Given the description of an element on the screen output the (x, y) to click on. 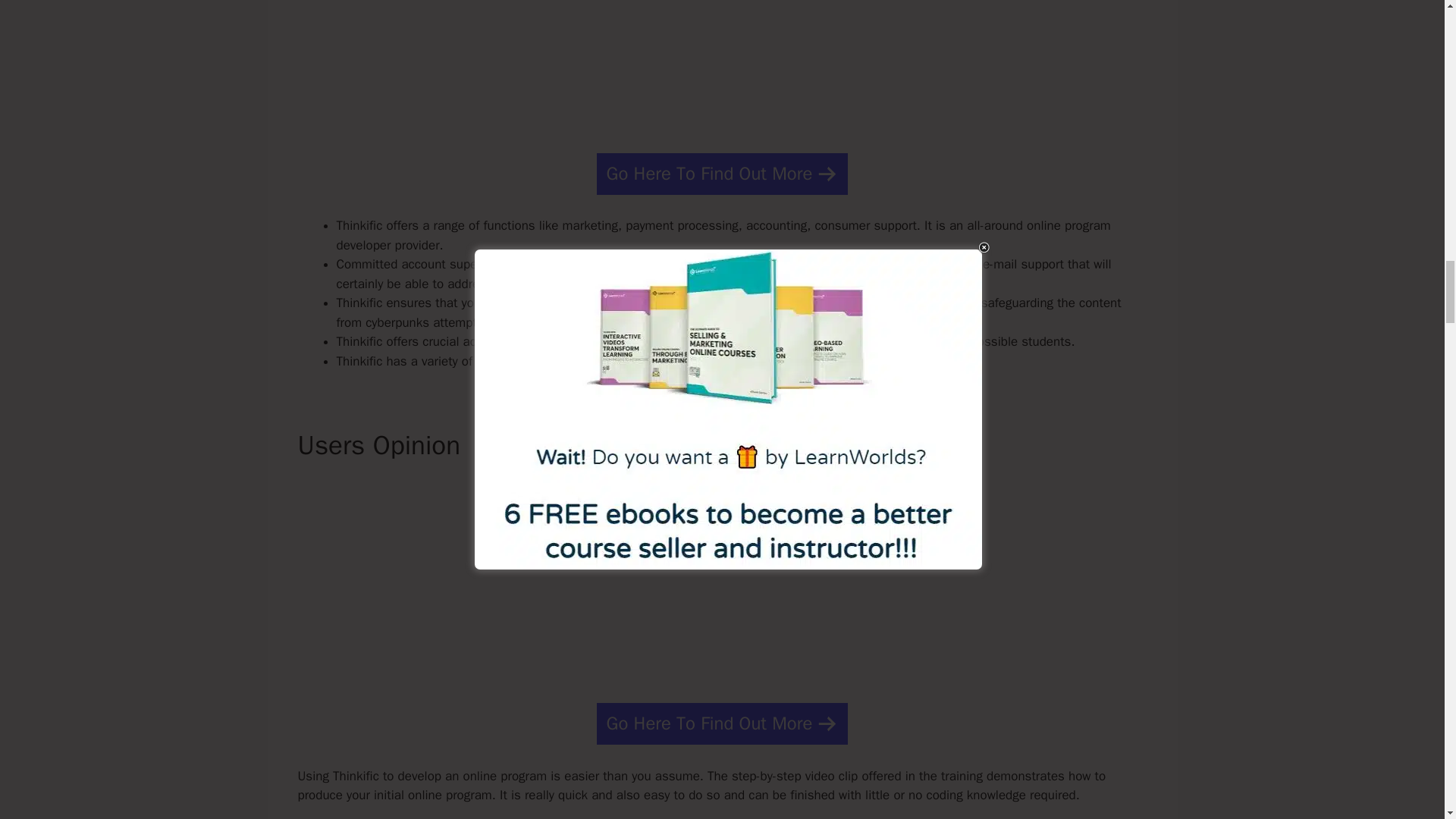
Go Here To Find Out More (722, 723)
Go Here To Find Out More (722, 173)
